Given the description of an element on the screen output the (x, y) to click on. 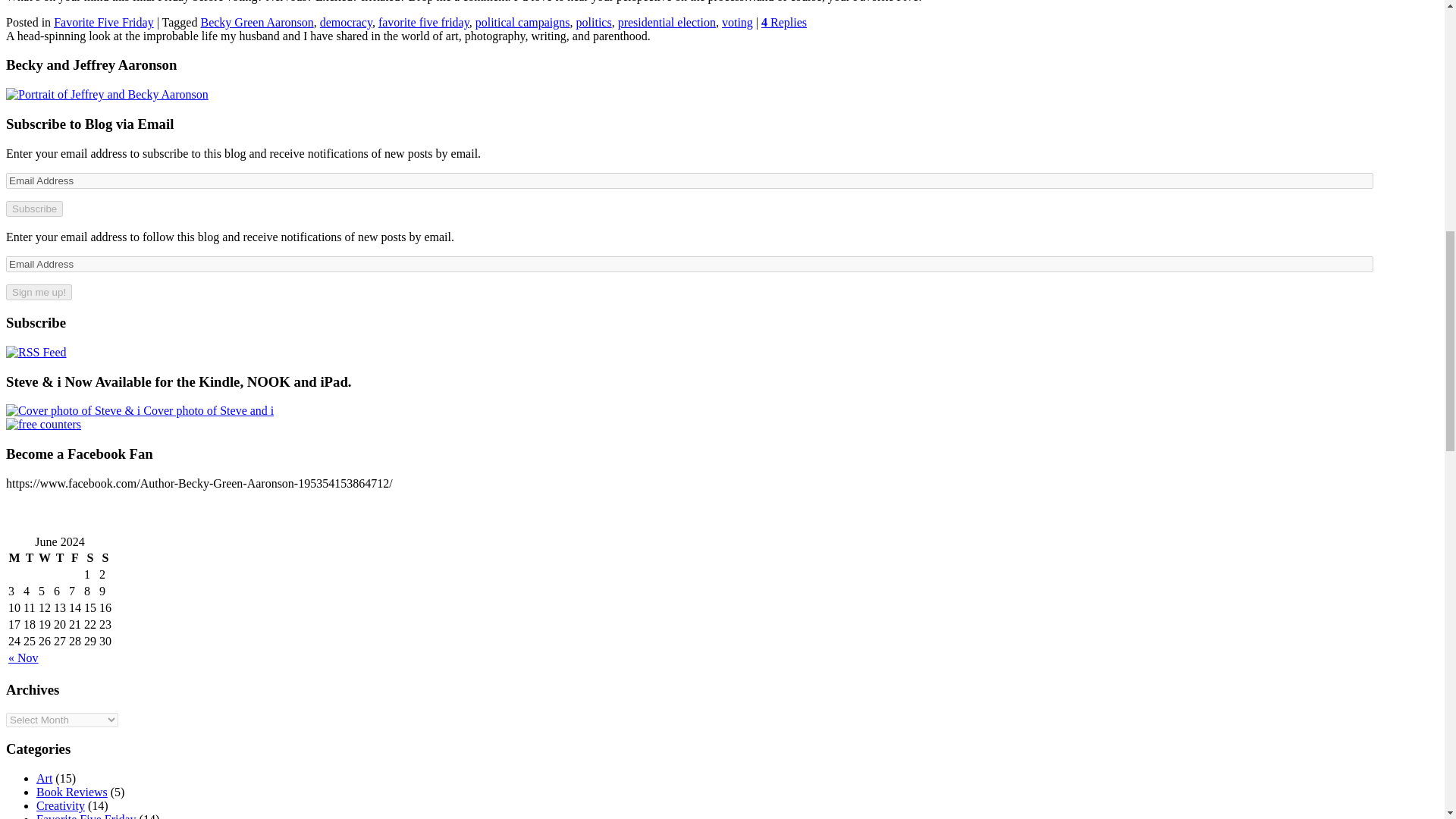
politics (593, 21)
Becky Green Aaronson (256, 21)
View all posts in Favorite Five Friday (103, 21)
Favorite Five Friday (103, 21)
Subscribe (33, 208)
Sign me up! (38, 292)
Email Address (689, 180)
Monday (14, 557)
Subscribe (33, 208)
Sign me up! (38, 292)
Friday (74, 557)
Wednesday (43, 557)
Subscribe to Posts (35, 351)
democracy (346, 21)
